Given the description of an element on the screen output the (x, y) to click on. 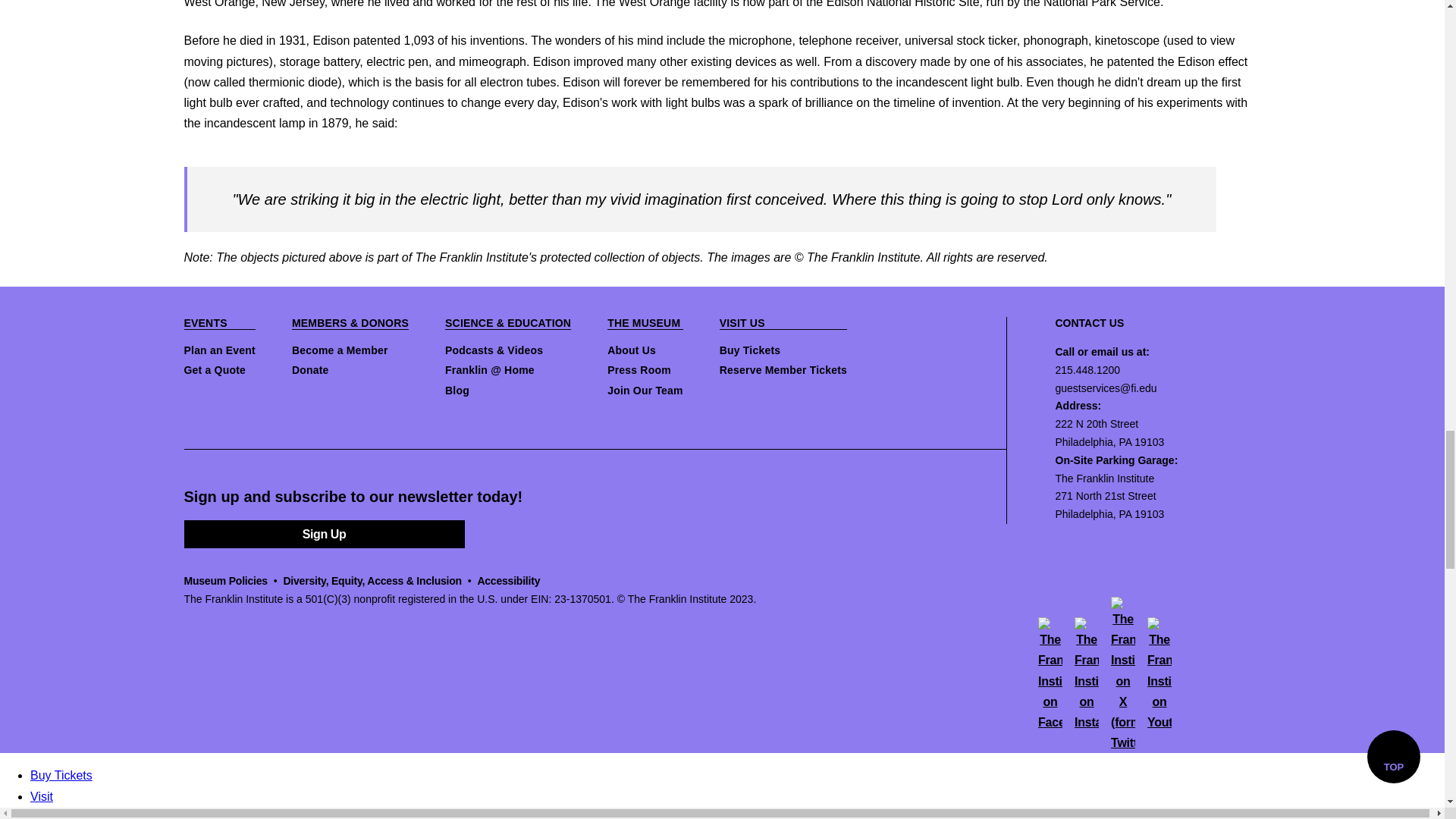
Accessibility (508, 580)
Tickets (80, 814)
Museum Policies (224, 580)
